Given the description of an element on the screen output the (x, y) to click on. 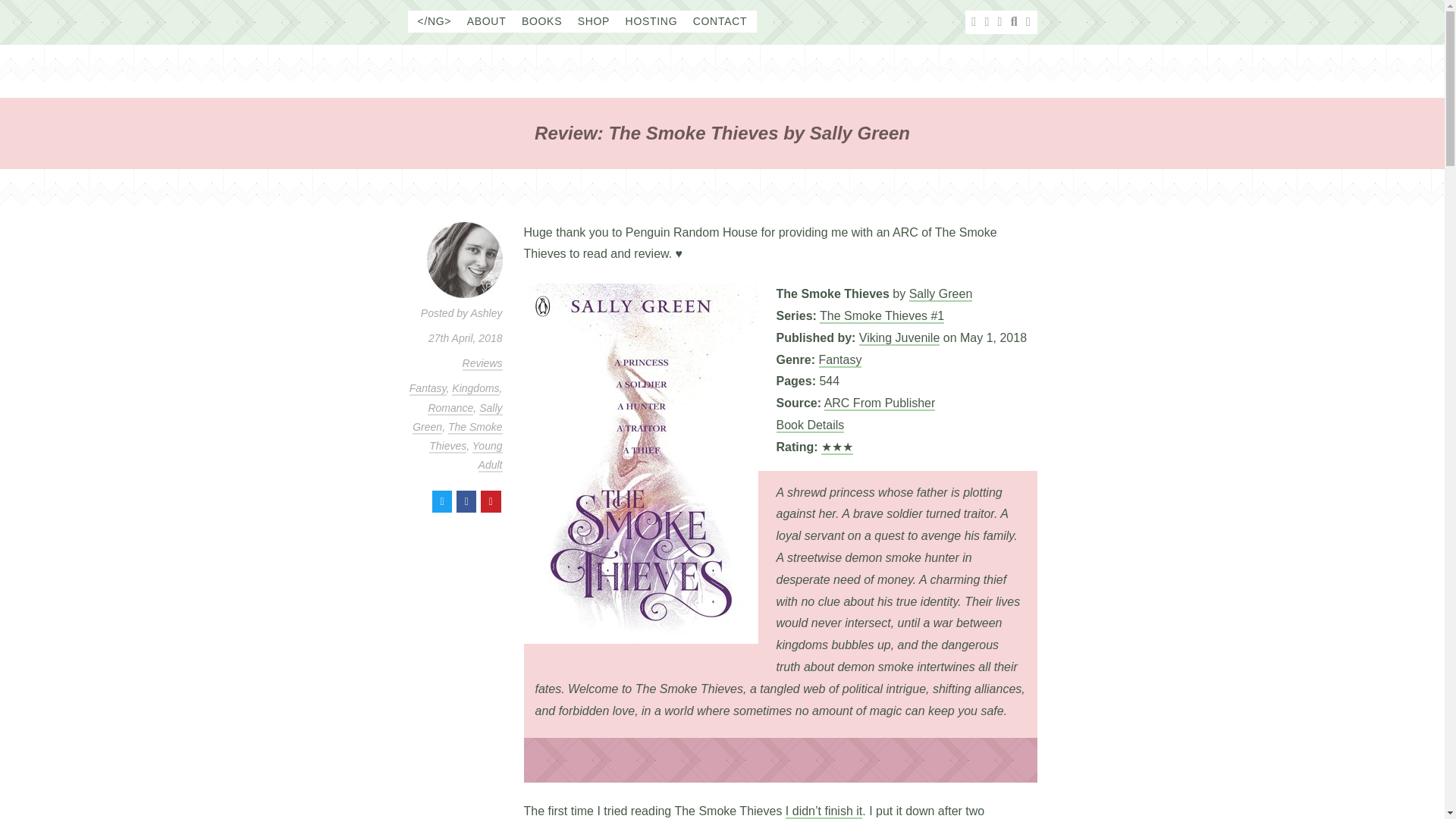
Reviews (482, 364)
CONTACT (720, 21)
ARC From Publisher (880, 403)
Fantasy (839, 359)
Kingdoms (475, 388)
The Smoke Thieves (465, 436)
Book Details (810, 425)
Young Adult (486, 455)
Fantasy (427, 388)
Romance (450, 408)
Sally Green (457, 418)
SHOP (594, 21)
Sally Green (940, 294)
ABOUT (486, 21)
HOSTING (652, 21)
